Given the description of an element on the screen output the (x, y) to click on. 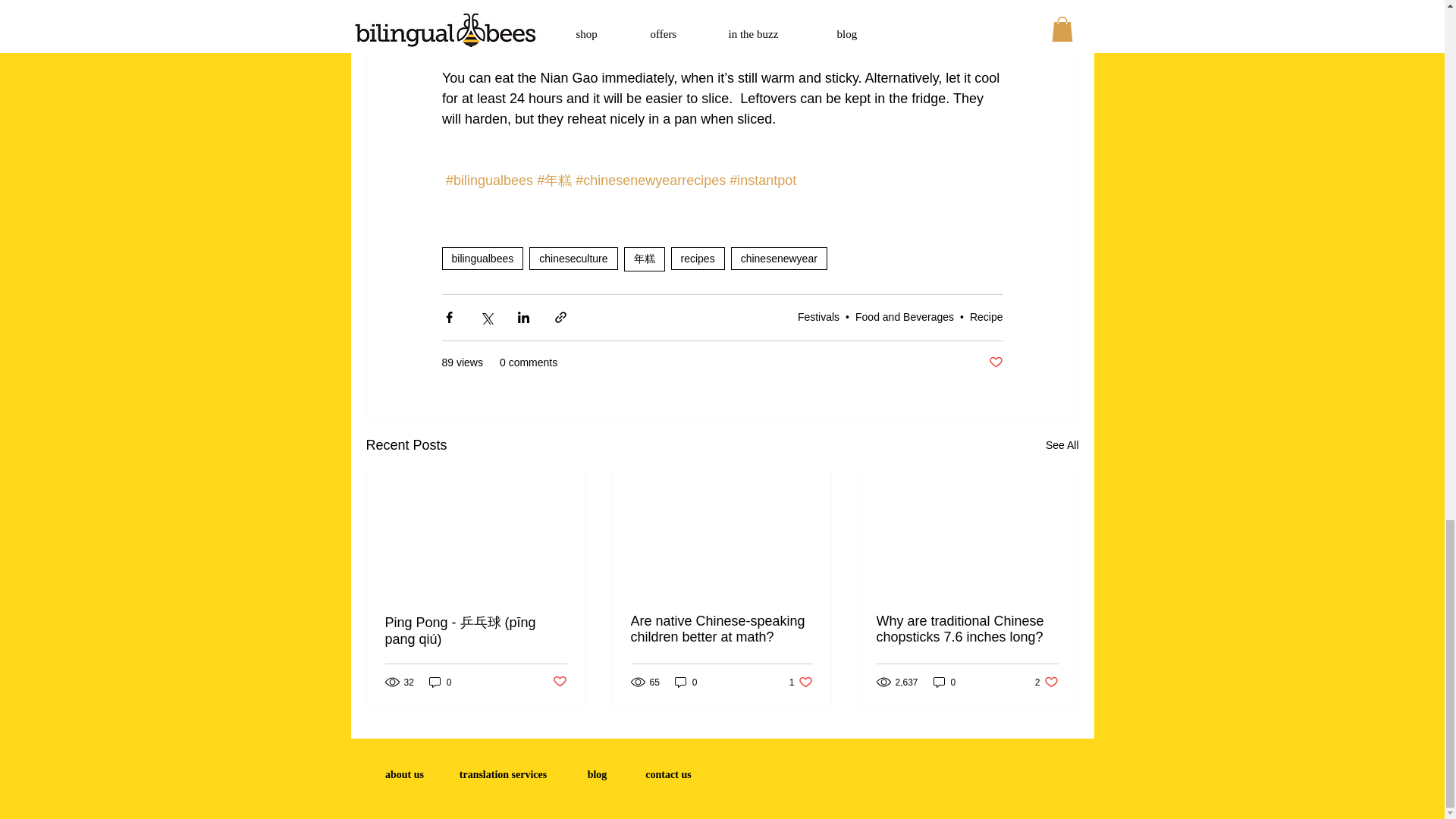
recipes (698, 258)
chineseculture (573, 258)
bilingualbees (481, 258)
chinesenewyear (778, 258)
